Given the description of an element on the screen output the (x, y) to click on. 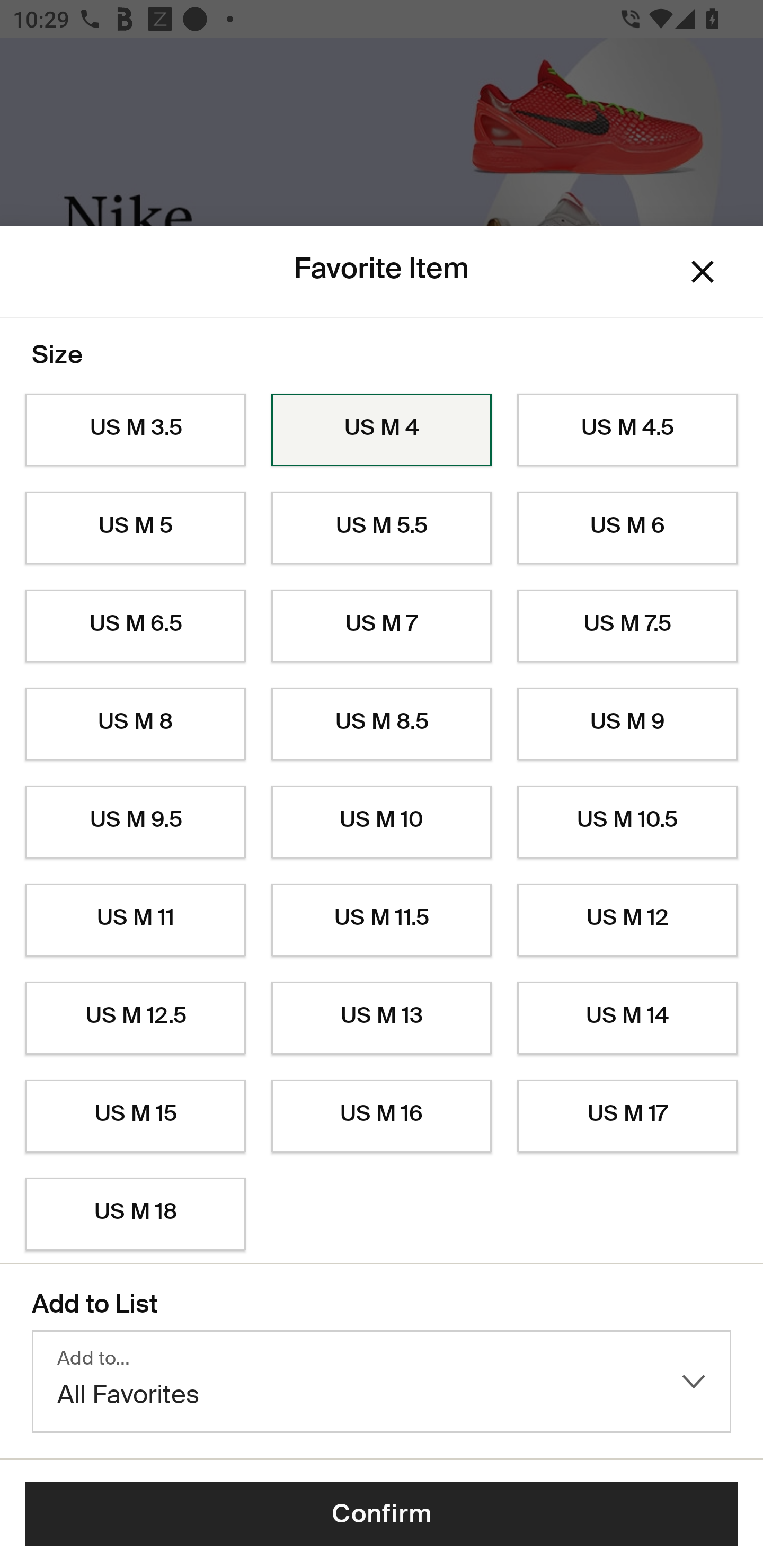
Dismiss (702, 271)
US M 3.5 (135, 430)
US M 4 (381, 430)
US M 4.5 (627, 430)
US M 5 (135, 527)
US M 5.5 (381, 527)
US M 6 (627, 527)
US M 6.5 (135, 626)
US M 7 (381, 626)
US M 7.5 (627, 626)
US M 8 (135, 724)
US M 8.5 (381, 724)
US M 9 (627, 724)
US M 9.5 (135, 822)
US M 10 (381, 822)
US M 10.5 (627, 822)
US M 11 (135, 919)
US M 11.5 (381, 919)
US M 12 (627, 919)
US M 12.5 (135, 1018)
US M 13 (381, 1018)
US M 14 (627, 1018)
US M 15 (135, 1116)
US M 16 (381, 1116)
US M 17 (627, 1116)
US M 18 (135, 1214)
Add to… All Favorites (381, 1381)
Confirm (381, 1513)
